Given the description of an element on the screen output the (x, y) to click on. 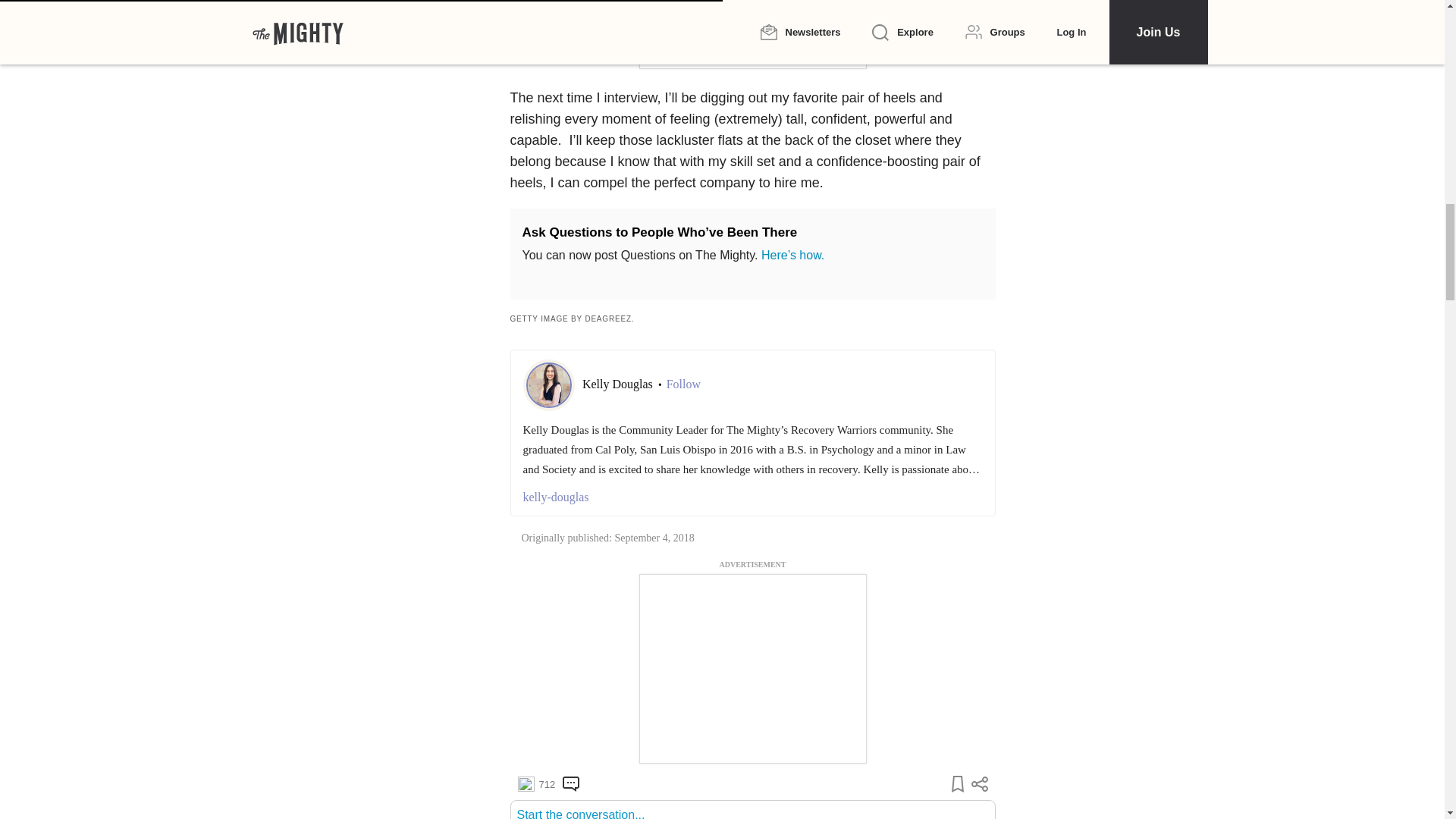
kelly-douglas (752, 497)
Kelly Douglas (619, 383)
Follow (683, 384)
712 (535, 783)
